Given the description of an element on the screen output the (x, y) to click on. 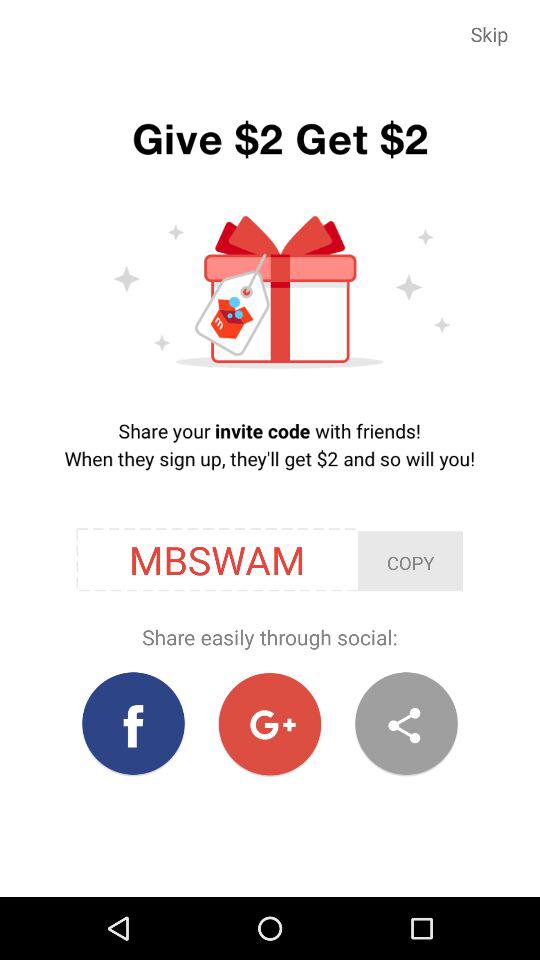
share the article (406, 724)
